Given the description of an element on the screen output the (x, y) to click on. 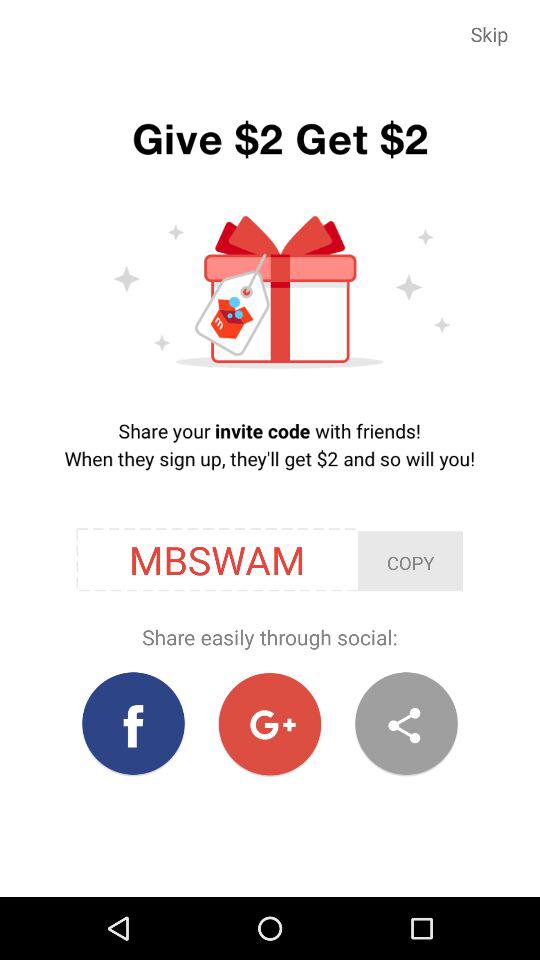
share the article (406, 724)
